Given the description of an element on the screen output the (x, y) to click on. 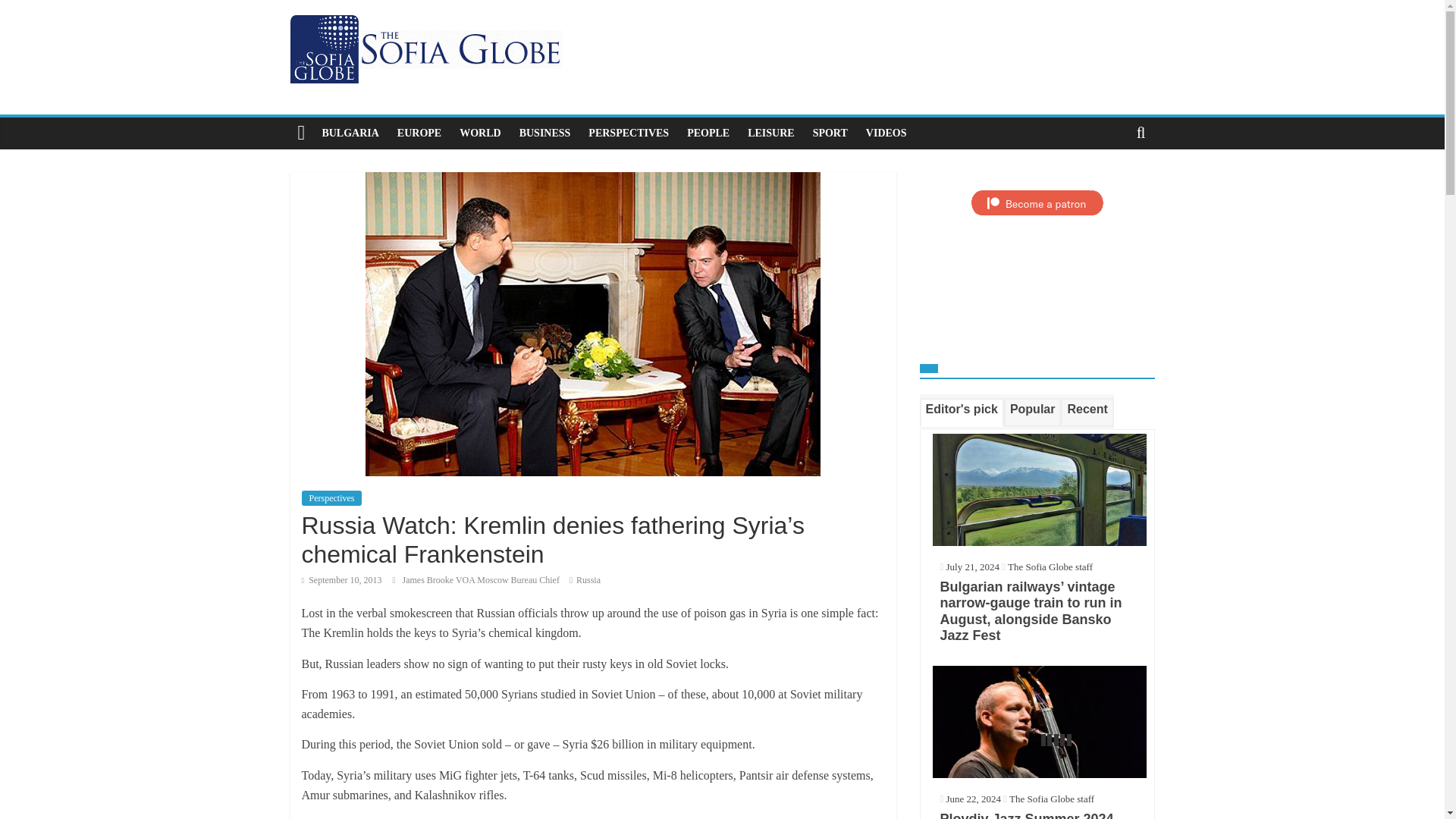
BULGARIA (350, 133)
PEOPLE (708, 133)
LEISURE (770, 133)
BUSINESS (545, 133)
EUROPE (418, 133)
Russia (587, 579)
WORLD (479, 133)
VIDEOS (886, 133)
Perspectives (331, 498)
July 21, 2024 (969, 566)
James Brooke VOA Moscow Bureau Chief (482, 579)
The Sofia Globe staff (1050, 566)
11:03 AM (341, 579)
September 10, 2013 (341, 579)
SPORT (830, 133)
